Given the description of an element on the screen output the (x, y) to click on. 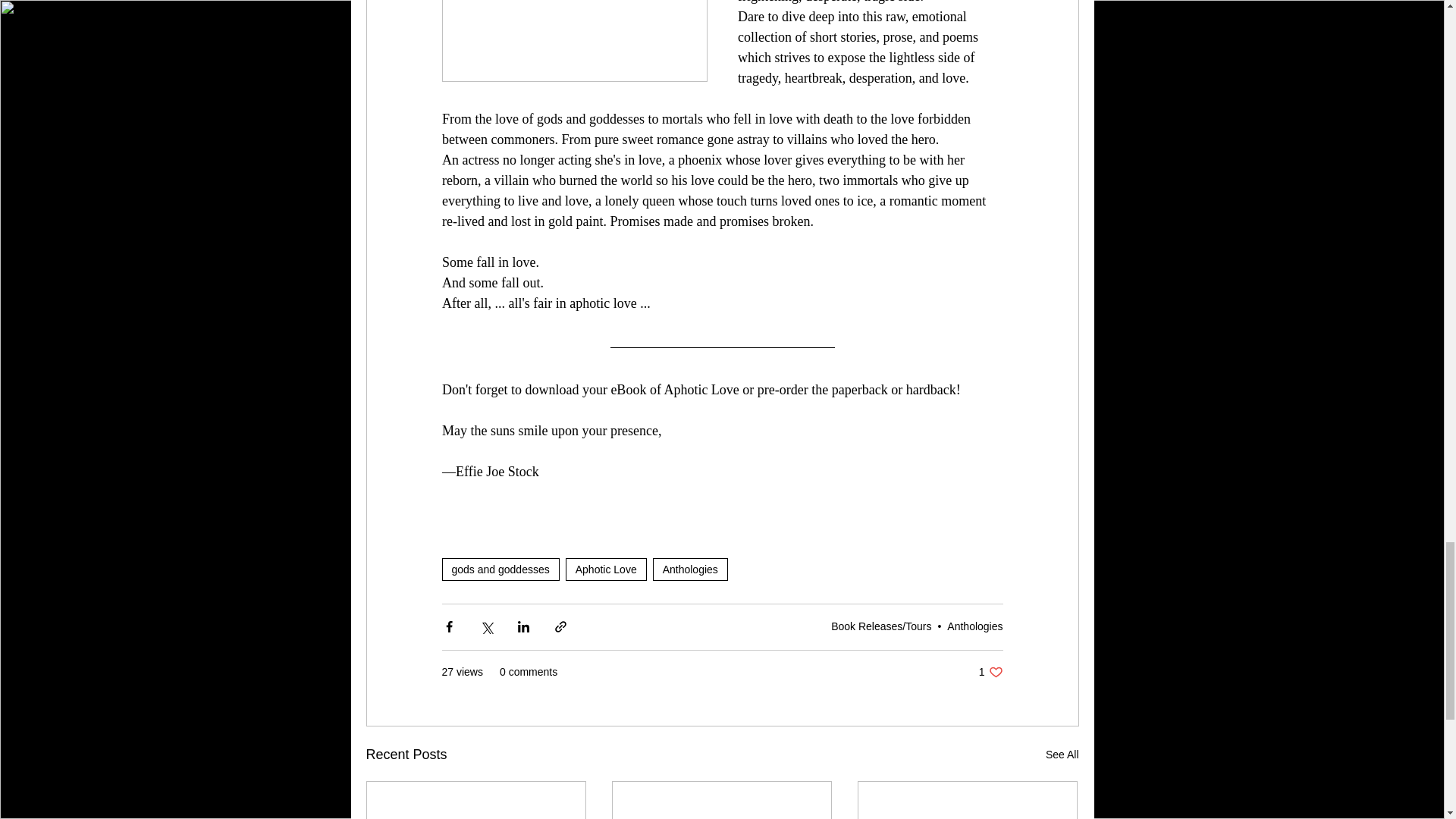
gods and goddesses (990, 672)
Anthologies (500, 568)
See All (690, 568)
Anthologies (1061, 754)
Aphotic Love (975, 625)
